Given the description of an element on the screen output the (x, y) to click on. 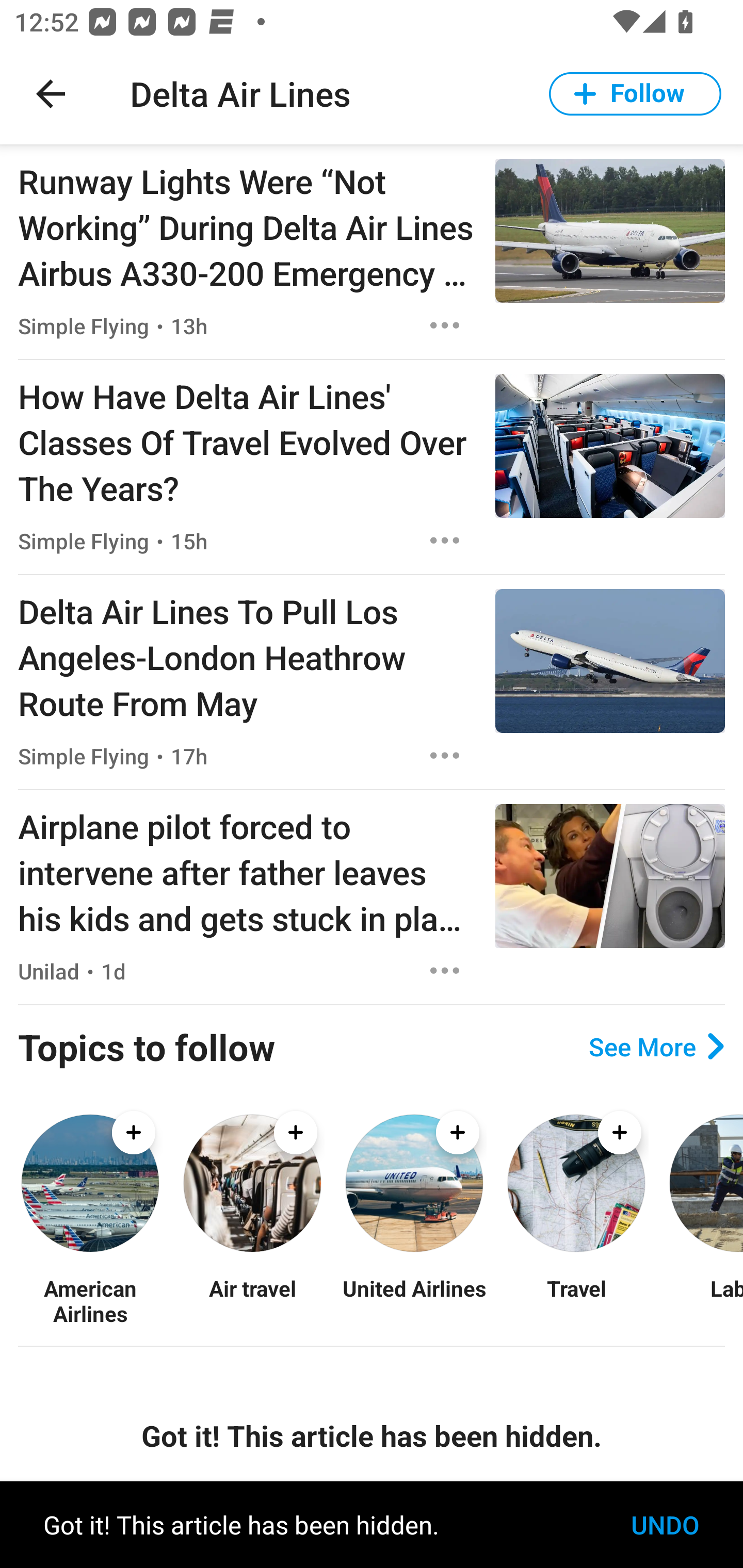
Navigate up (50, 93)
Follow (635, 94)
Options (444, 325)
Options (444, 540)
Options (444, 755)
Options (444, 970)
See More (656, 1046)
American Airlines (89, 1300)
Air travel (251, 1300)
United Airlines (413, 1300)
Travel (575, 1300)
UNDO (665, 1524)
